Given the description of an element on the screen output the (x, y) to click on. 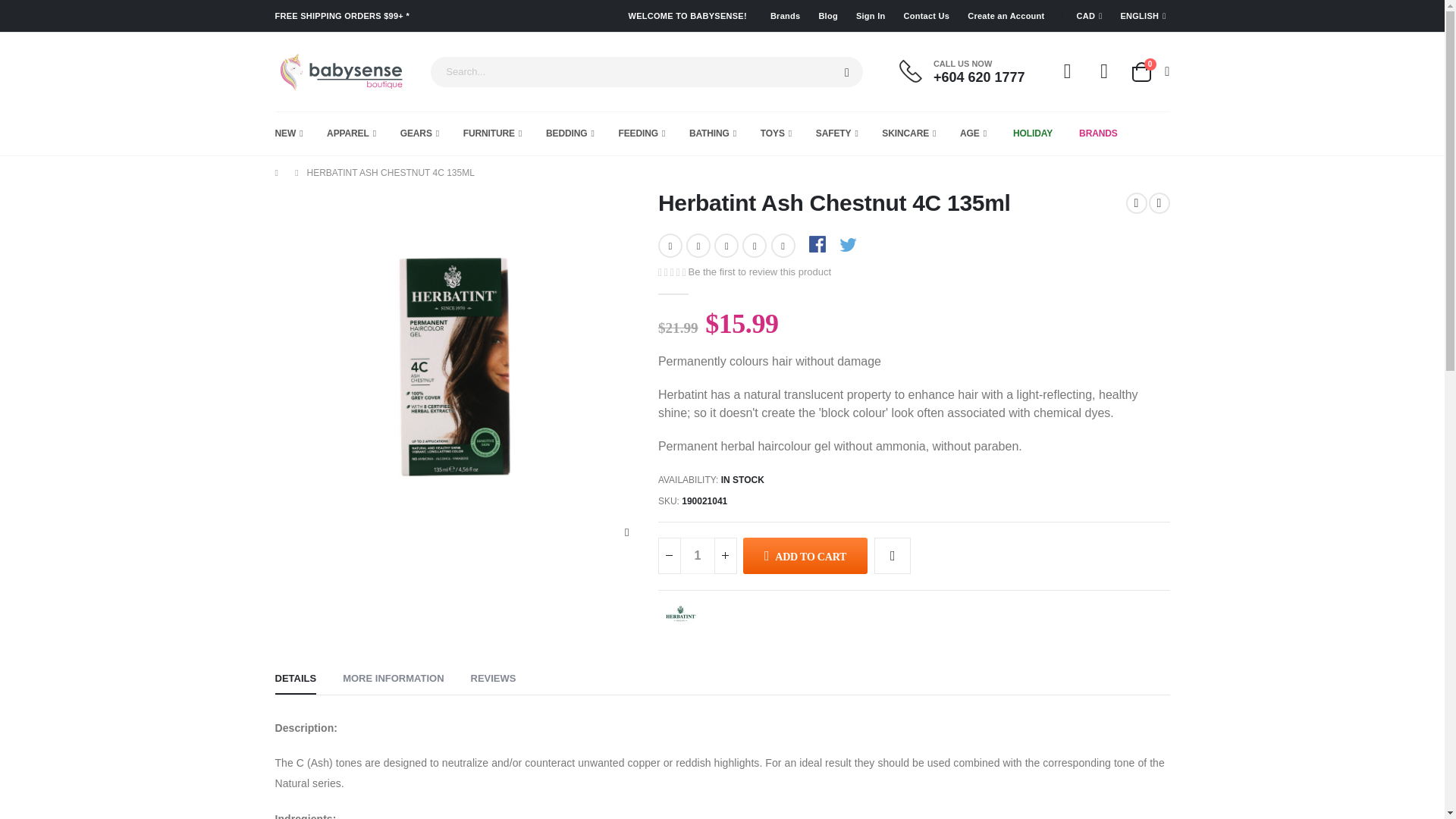
Apparel (350, 133)
1 (697, 555)
Search (846, 72)
Wishlist (1104, 71)
Brands (782, 15)
Blog (825, 15)
thebabysense.ca (339, 71)
Create an Account (1002, 15)
APPAREL (350, 133)
Sign In (867, 15)
Contact Us (1149, 71)
My Account (923, 15)
